Given the description of an element on the screen output the (x, y) to click on. 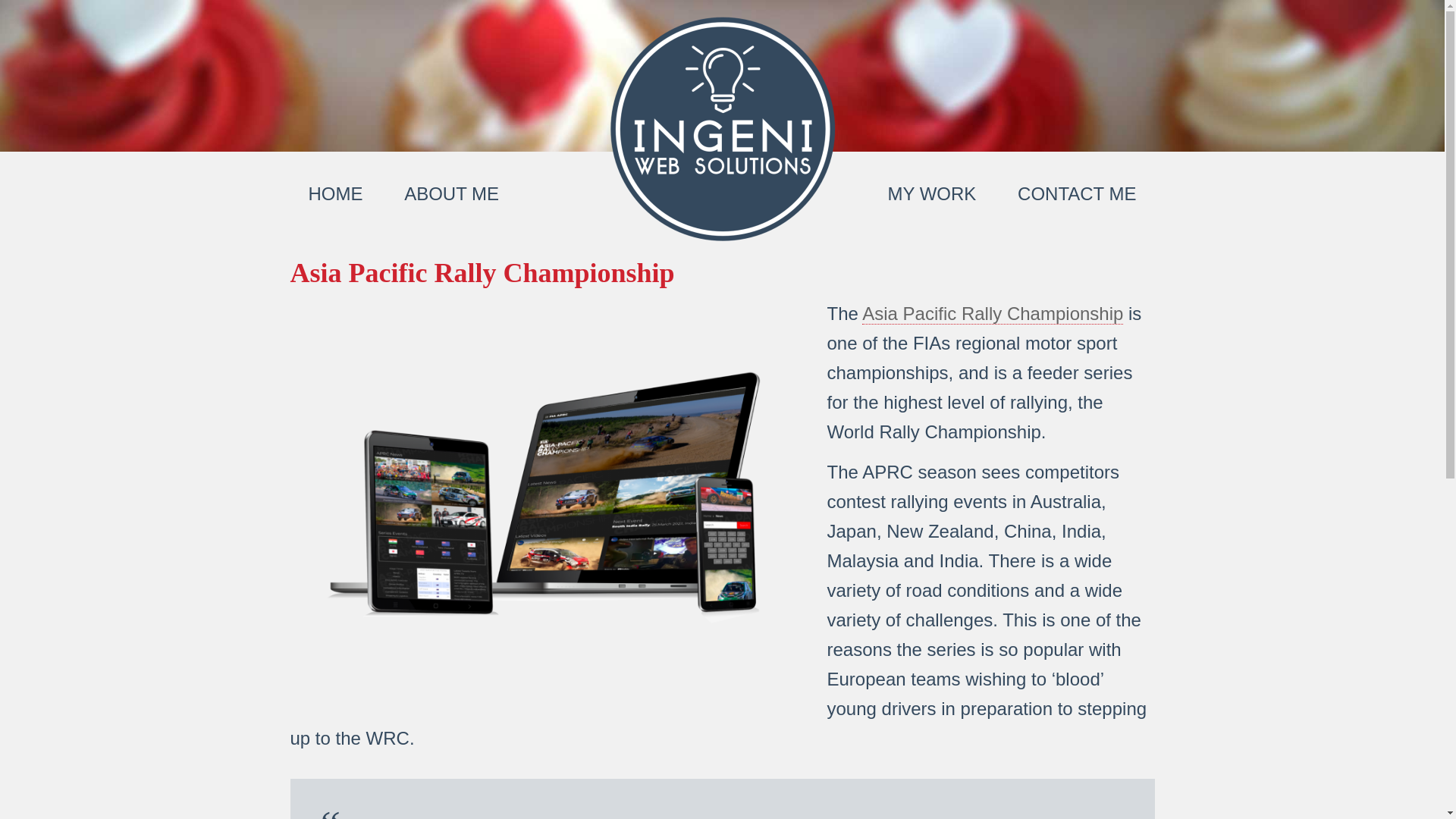
ABOUT ME (450, 193)
CONTACT ME (1076, 193)
Asia Pacific Rally Championship (991, 313)
MY WORK (931, 193)
HOME (334, 193)
